Given the description of an element on the screen output the (x, y) to click on. 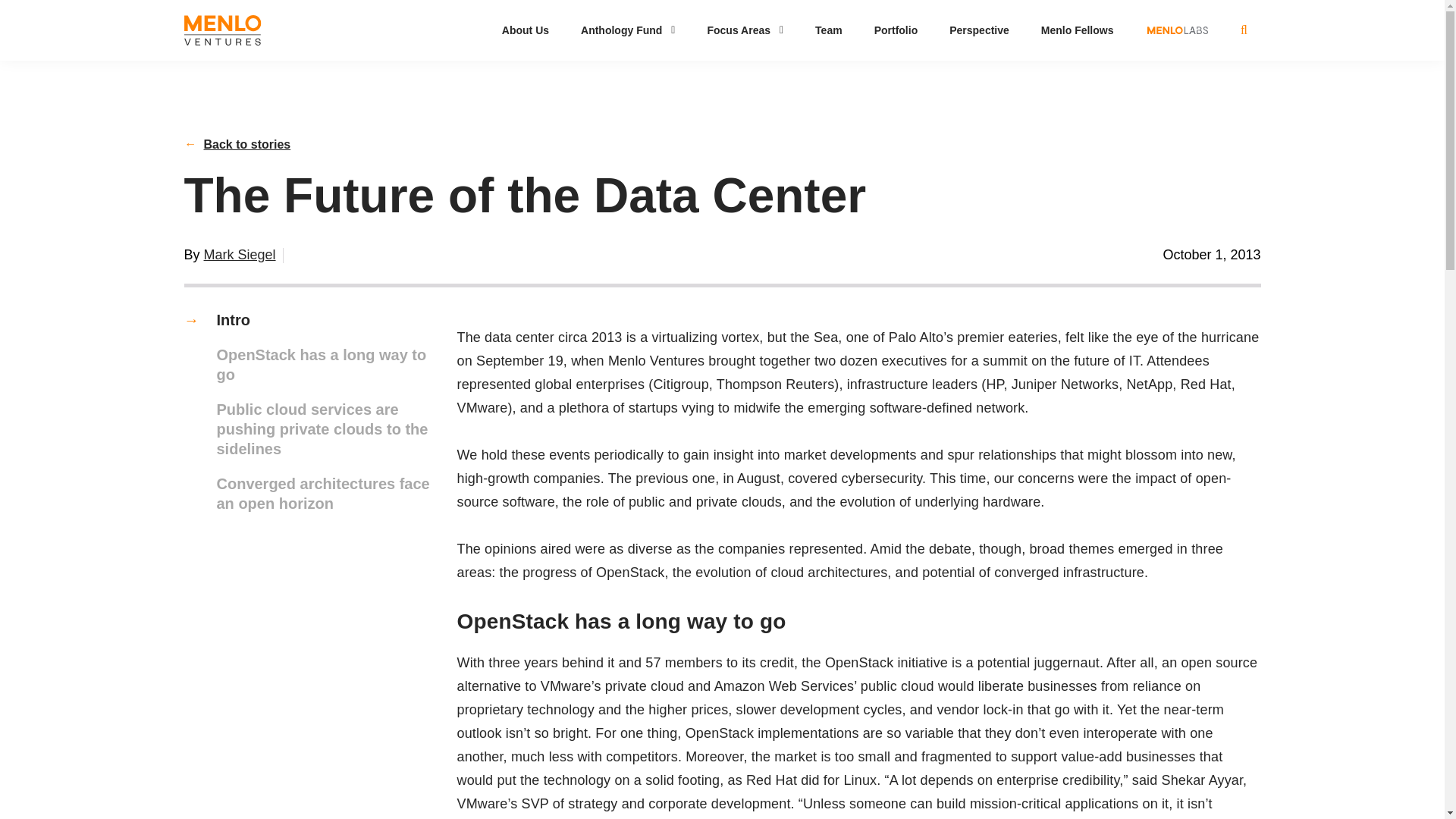
Mark Siegel (239, 254)
OpenStack has a long way to go (312, 364)
Perspective (978, 30)
Converged architectures face an open horizon (312, 493)
Anthology Fund (628, 30)
Menlo Fellows (1077, 30)
Team (828, 30)
Portfolio (895, 30)
About Us (525, 30)
Intro (312, 320)
Focus Areas (744, 30)
